Given the description of an element on the screen output the (x, y) to click on. 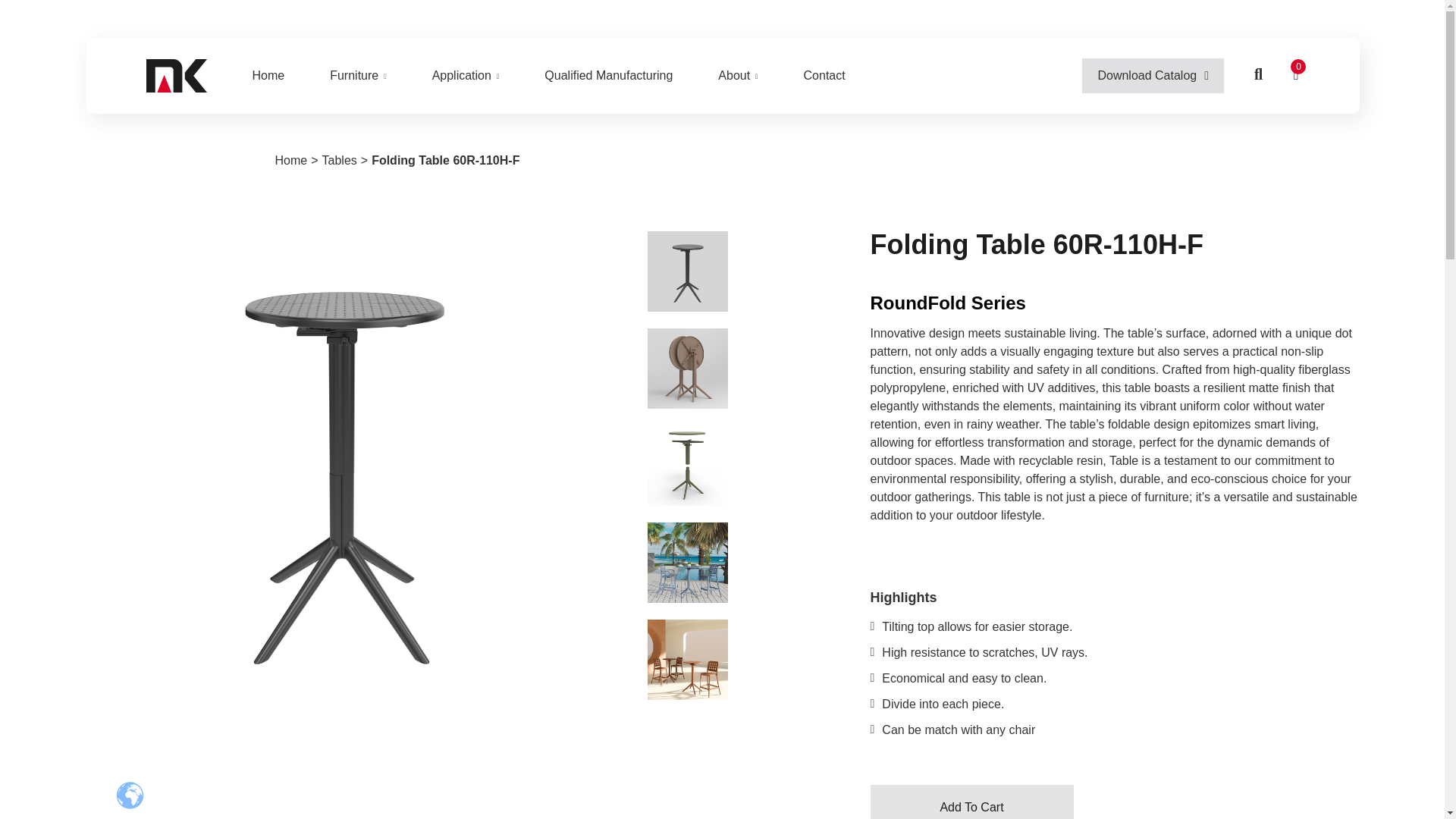
Add To Cart (972, 801)
Folding Table 60R-110H-F (445, 160)
Home (291, 160)
Application (465, 75)
Tables (338, 160)
Home (267, 75)
Furniture (358, 75)
About (737, 75)
Download Catalog (1152, 75)
0 (1295, 75)
Contact (823, 75)
Qualified Manufacturing (608, 75)
